Given the description of an element on the screen output the (x, y) to click on. 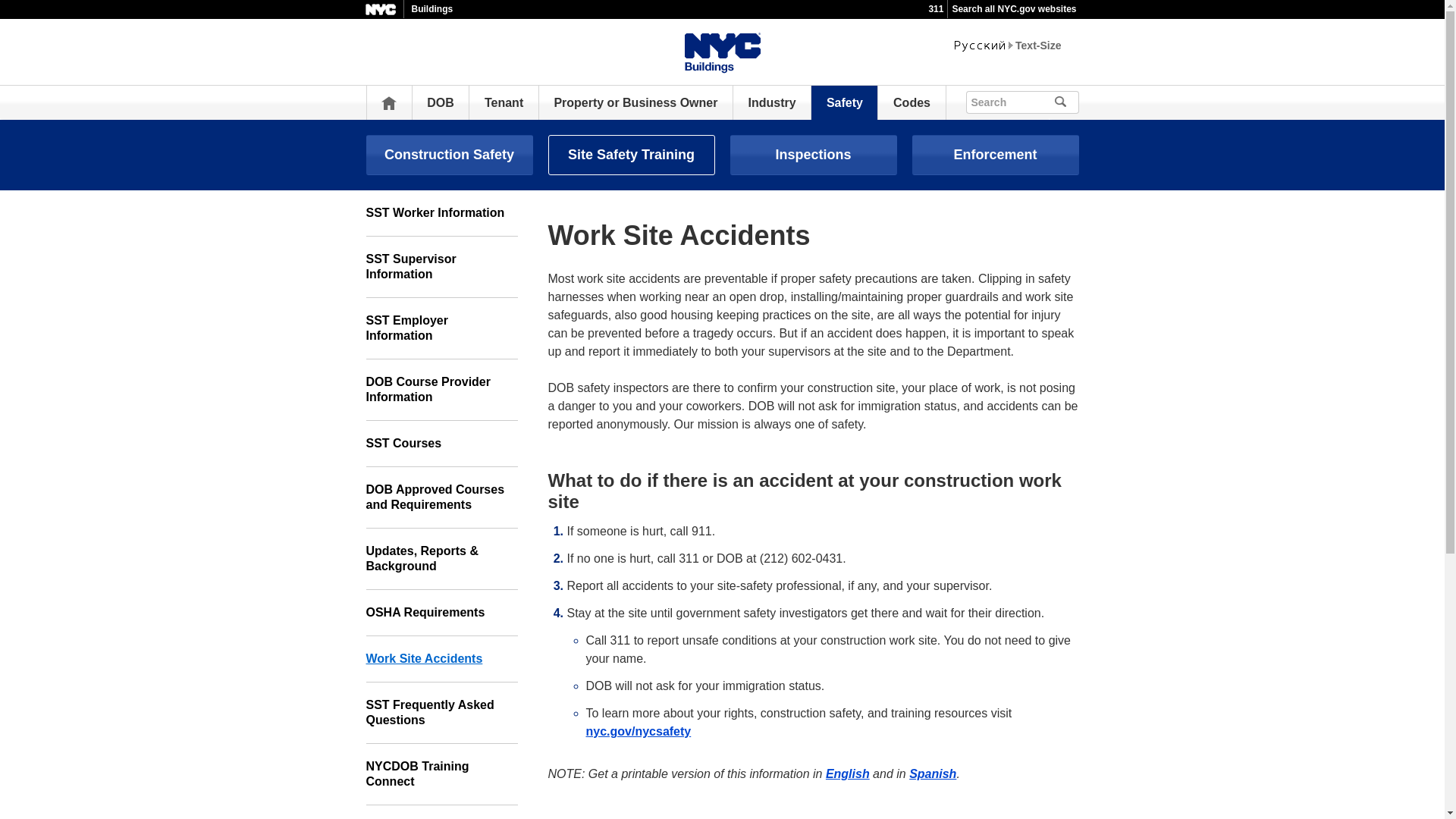
search (1081, 100)
SST Frequently Asked Questions (440, 712)
NYCDOB Training Connect (440, 774)
Safety (845, 102)
311 (935, 9)
OSHA Requirements (440, 612)
Site Safety Training (630, 155)
Work Site Accidents (440, 659)
Enforcement (994, 155)
SST Worker Information (440, 213)
Text-Size (1037, 45)
DOB Course Provider Information (440, 389)
DOB Approved Courses and Requirements (440, 497)
SST Supervisor Information (440, 267)
Construction Safety (448, 155)
